Given the description of an element on the screen output the (x, y) to click on. 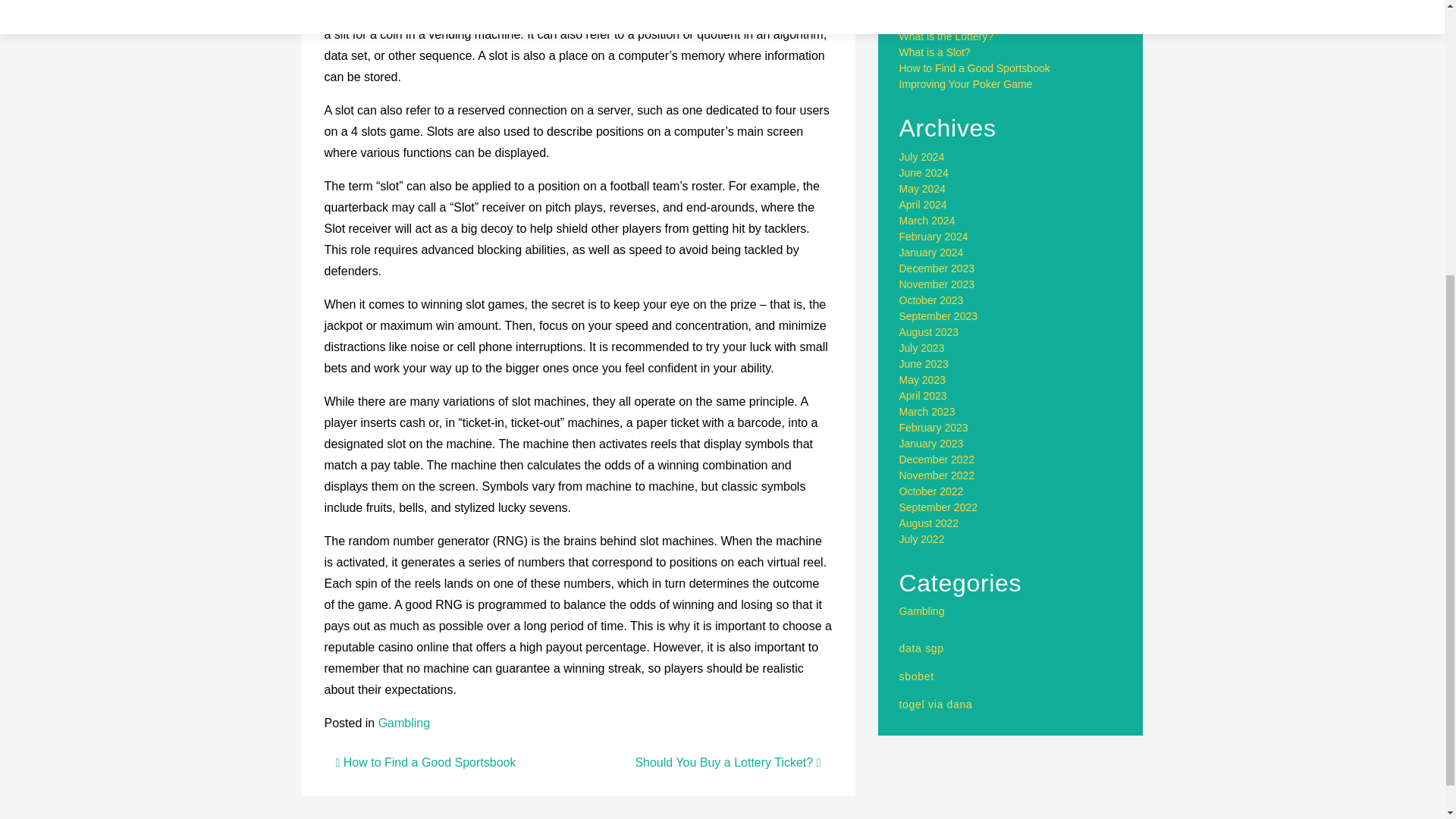
January 2024 (931, 252)
August 2023 (929, 331)
March 2023 (927, 411)
September 2023 (938, 316)
What is the Lottery? (946, 36)
May 2024 (921, 188)
Improving Your Poker Game (965, 83)
June 2023 (924, 363)
July 2024 (921, 156)
May 2023 (921, 379)
